Given the description of an element on the screen output the (x, y) to click on. 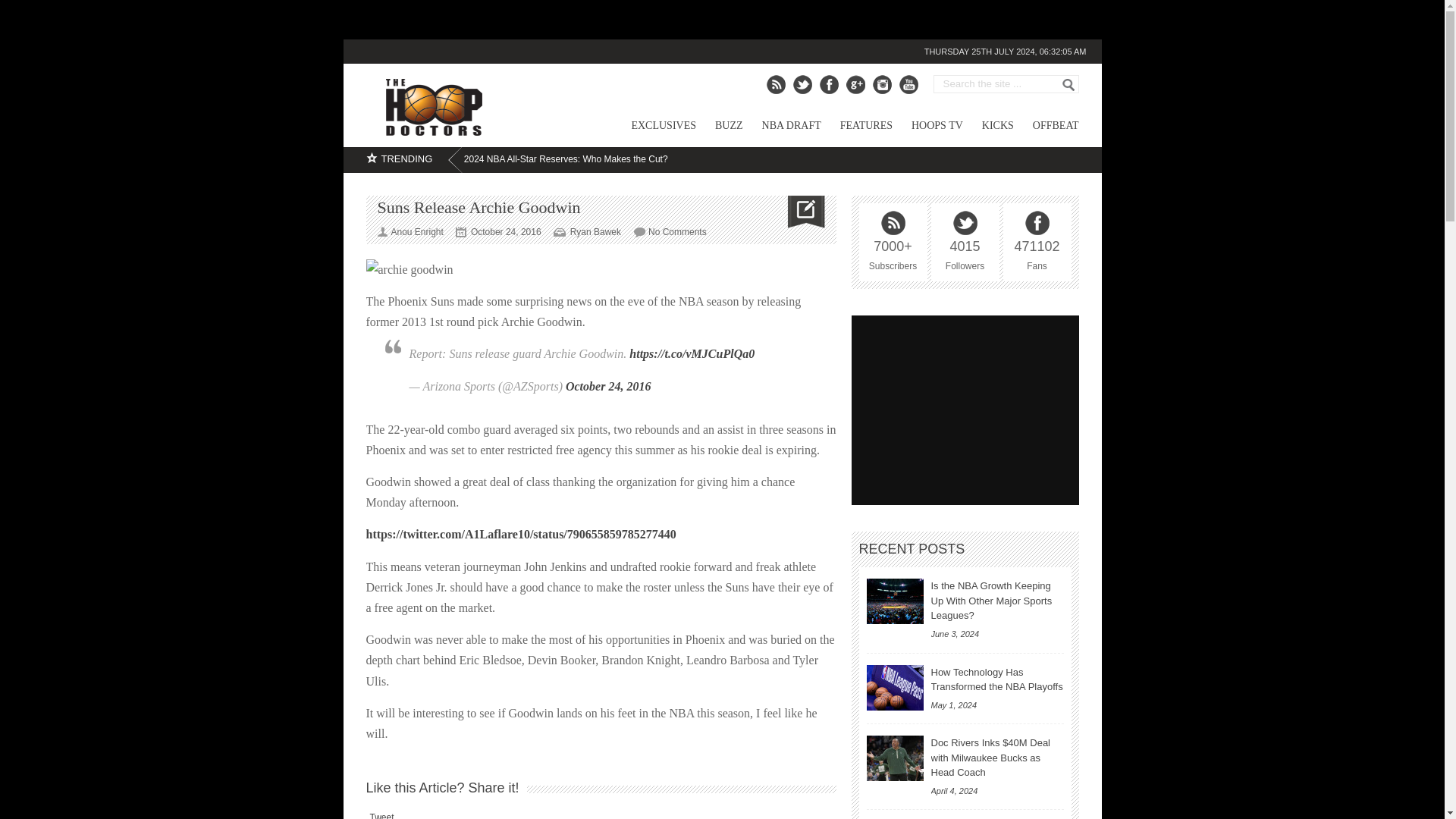
BUZZ (718, 128)
How Technology Has Transformed the NBA Playoffs (996, 679)
EXCLUSIVES (653, 128)
HOOPS TV (927, 128)
Go (1067, 84)
Search the site ... (1000, 83)
FEATURES (856, 128)
NBA DRAFT (781, 128)
KICKS (987, 128)
How Technology Has Transformed the NBA Playoffs (894, 687)
